Given the description of an element on the screen output the (x, y) to click on. 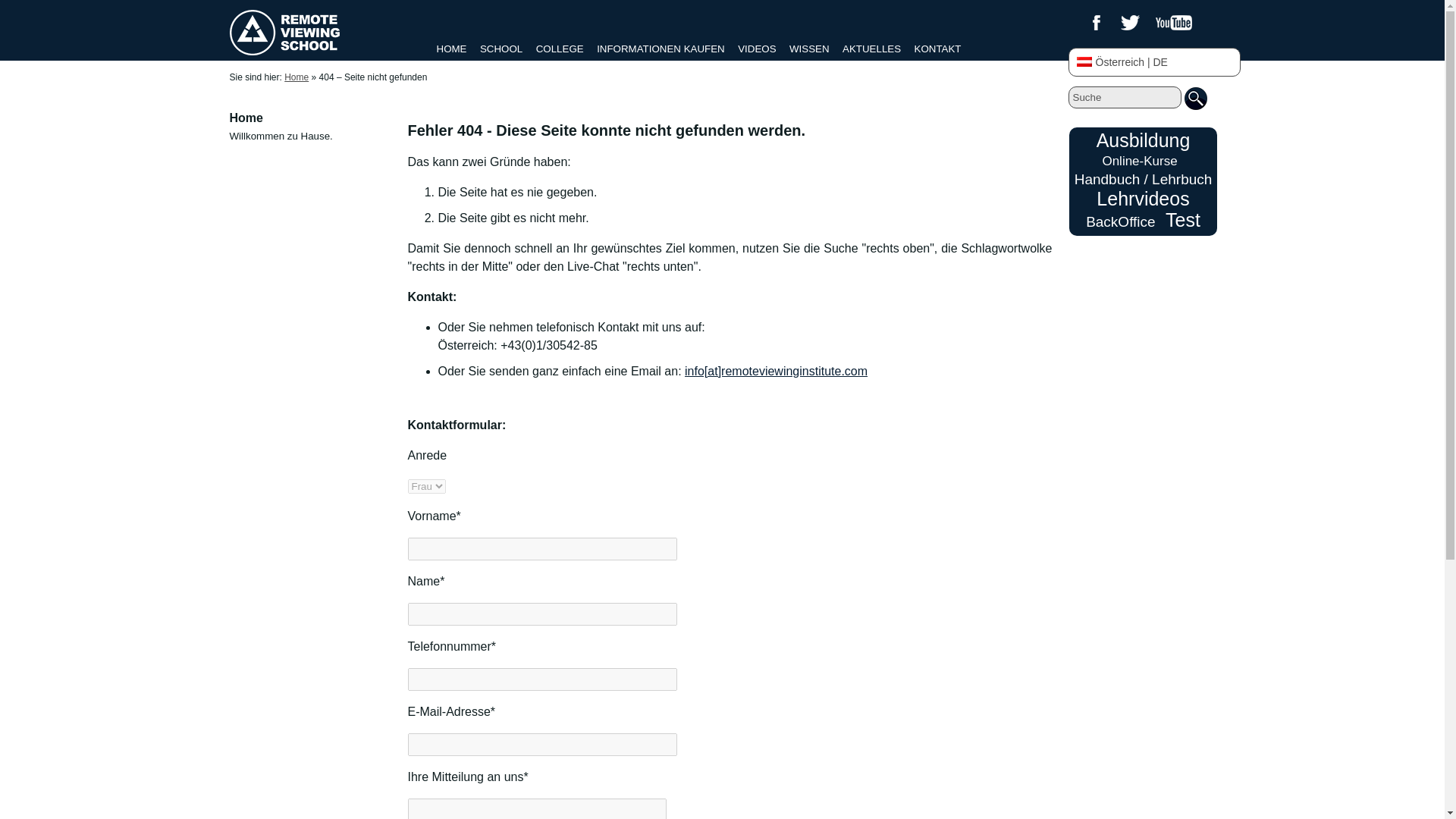
Suche (1123, 97)
BackOffice (1121, 221)
SCHOOL (501, 48)
Test (1182, 219)
HOME (451, 48)
COLLEGE (559, 48)
Lehrvideos (1142, 198)
Online-Kurse (1139, 160)
Ausbildung (1143, 139)
Suche (1123, 97)
